Given the description of an element on the screen output the (x, y) to click on. 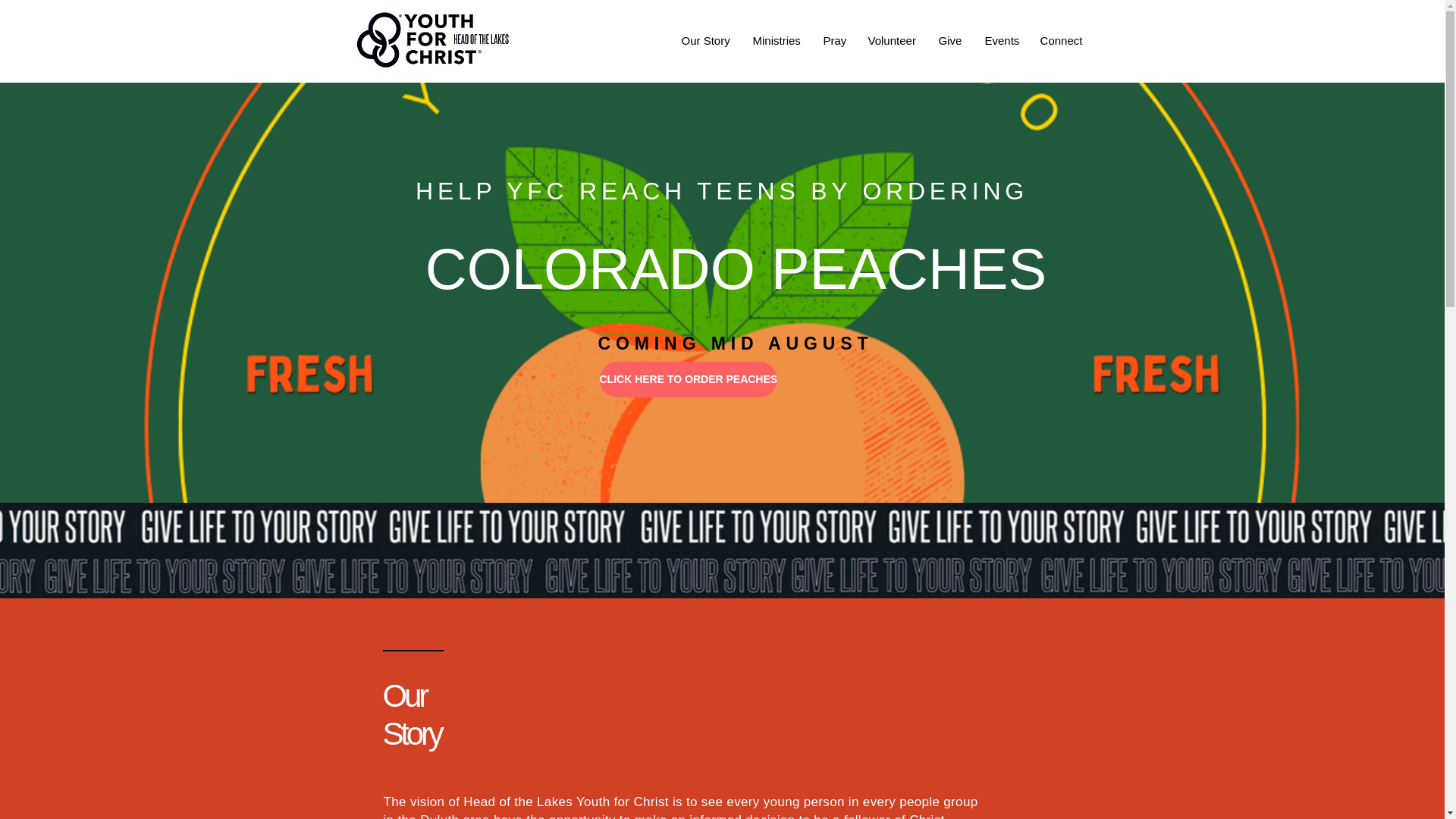
Give (949, 40)
Pray (833, 40)
CLICK HERE TO ORDER PEACHES (687, 379)
Ministries (776, 40)
Events (1001, 40)
Copy of YFC Location Generator.png (441, 37)
Our Story (705, 40)
Volunteer (892, 40)
Connect (1060, 40)
